Given the description of an element on the screen output the (x, y) to click on. 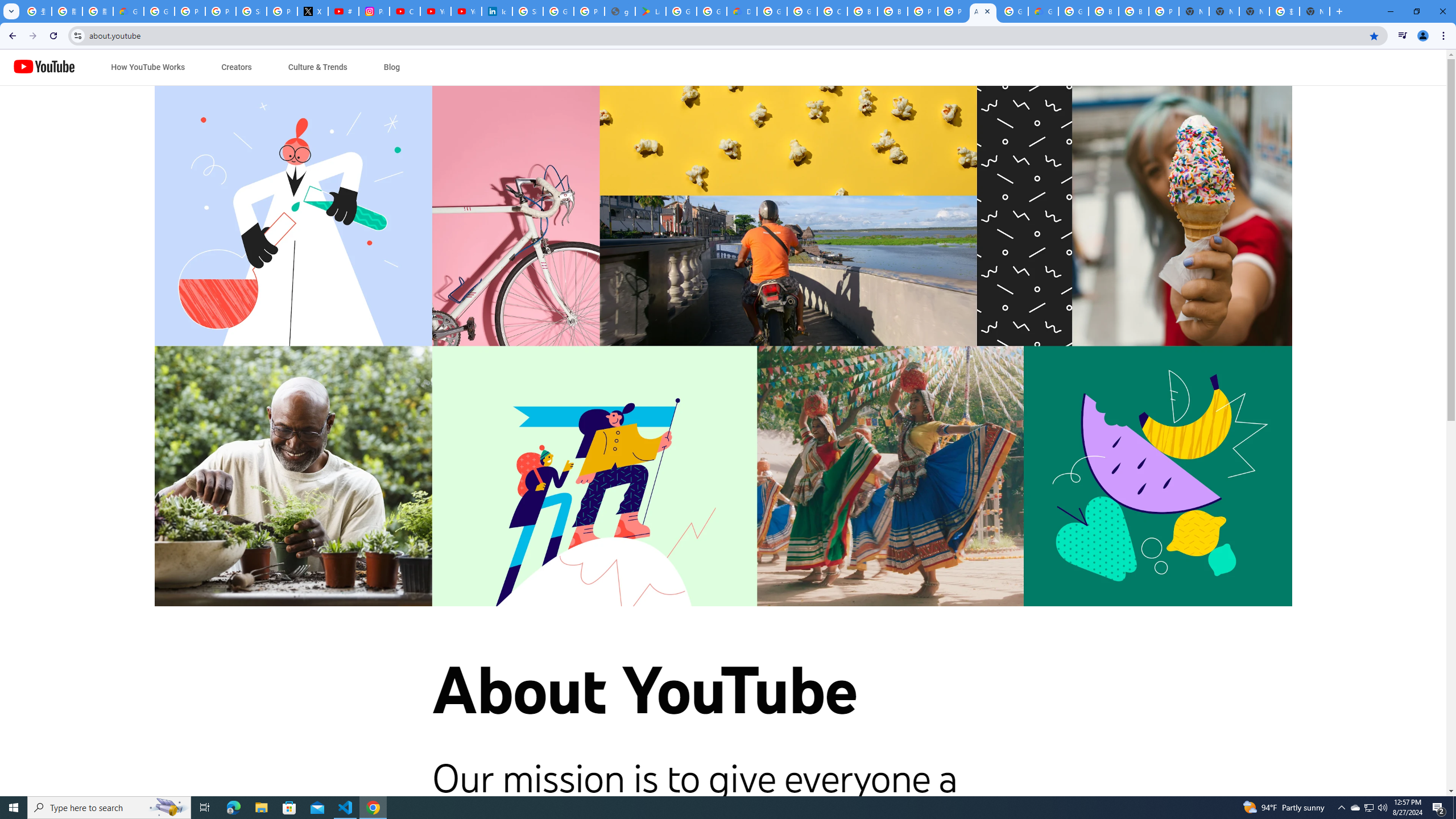
Browse Chrome as a guest - Computer - Google Chrome Help (1103, 11)
Google Cloud Privacy Notice (127, 11)
